Given the description of an element on the screen output the (x, y) to click on. 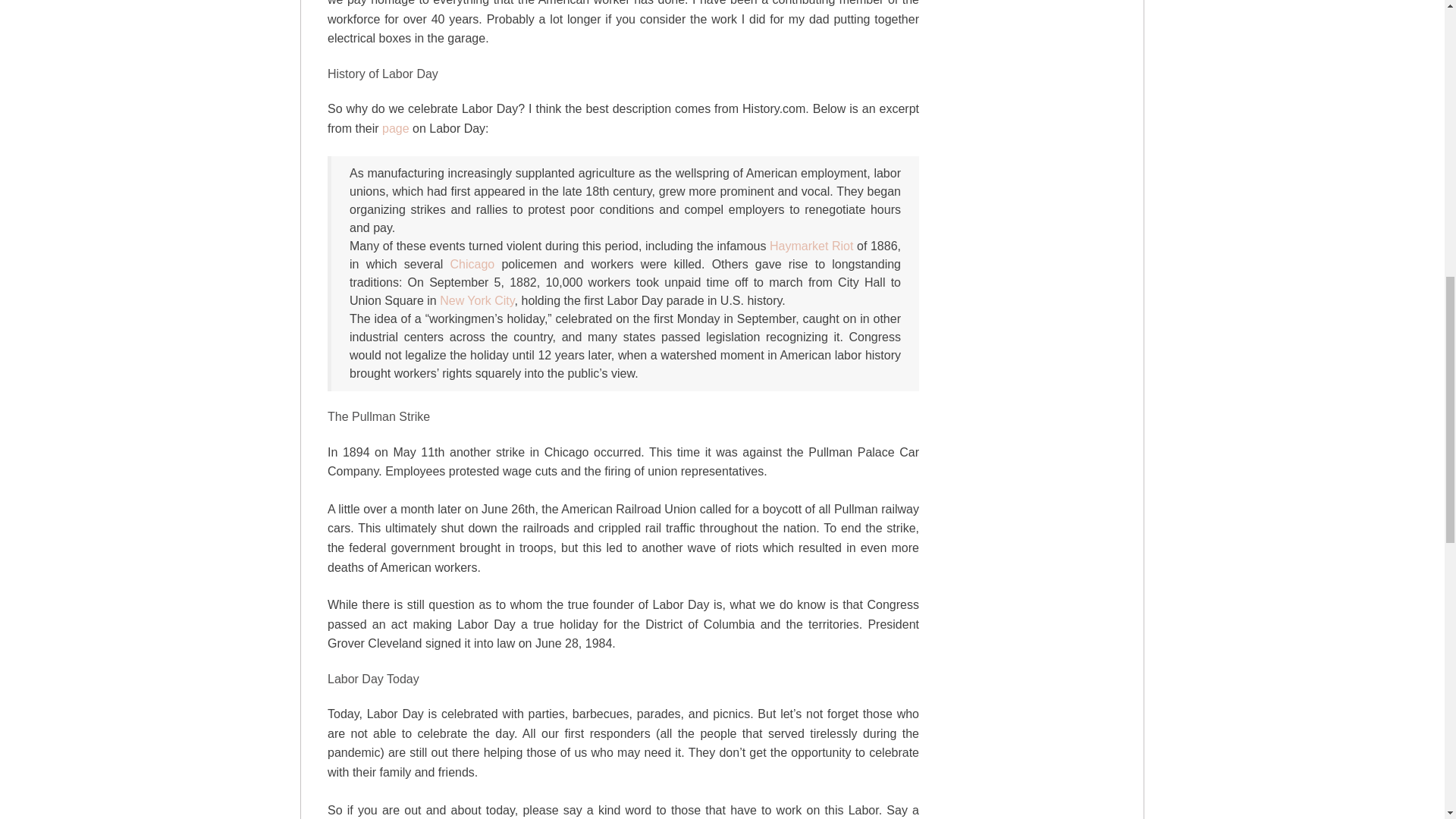
page (395, 127)
